Given the description of an element on the screen output the (x, y) to click on. 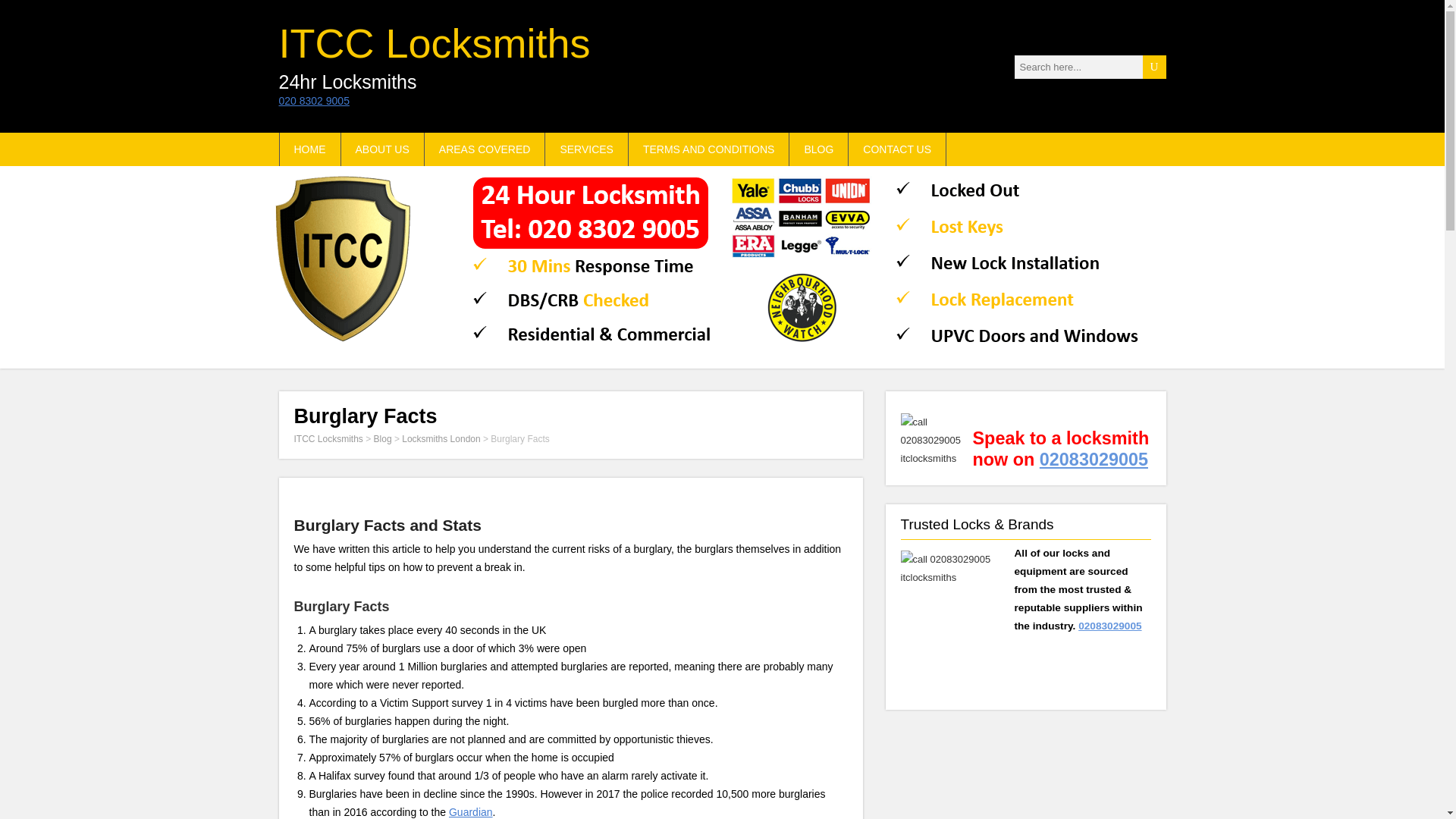
Go to Blog. (382, 439)
Blog (382, 439)
Locksmiths London (440, 439)
020 8302 9005 (314, 101)
SERVICES (586, 149)
AREAS COVERED (485, 149)
ABOUT US (382, 149)
Best Home Security Advice, Recommendations And Tips (586, 149)
TERMS AND CONDITIONS (708, 149)
U (1153, 65)
CONTACT US (897, 149)
Guardian (470, 811)
Go to the Locksmiths London Category archives. (440, 439)
ITCC Locksmiths (435, 43)
U (1153, 65)
